Given the description of an element on the screen output the (x, y) to click on. 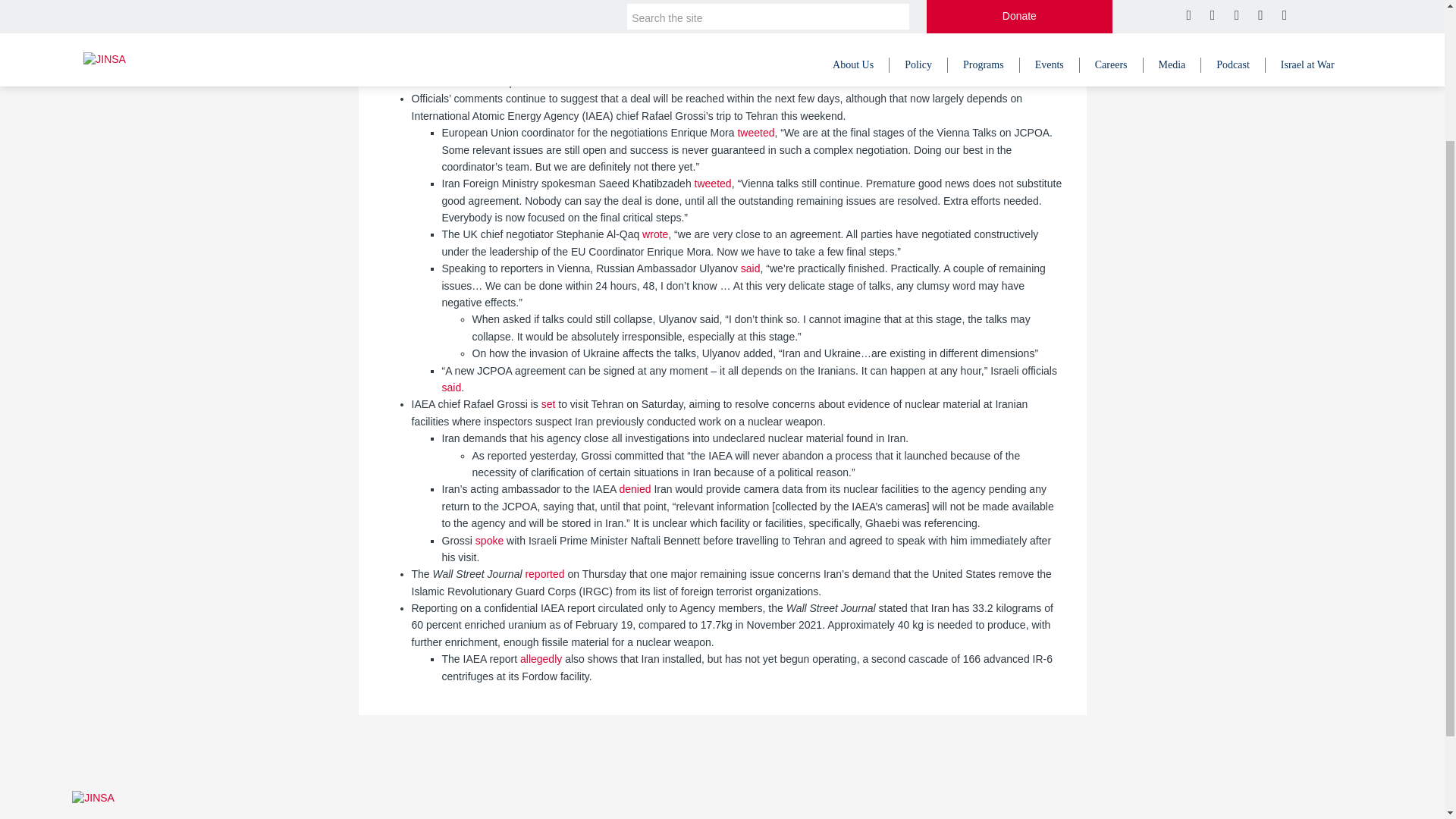
denied (634, 489)
said (750, 268)
ongoing (669, 64)
allegedly (540, 658)
tweeted (755, 132)
reported (544, 573)
JINSA (93, 797)
spoke (489, 539)
wrote (655, 234)
set (548, 404)
said (451, 387)
tweeted (713, 183)
